Given the description of an element on the screen output the (x, y) to click on. 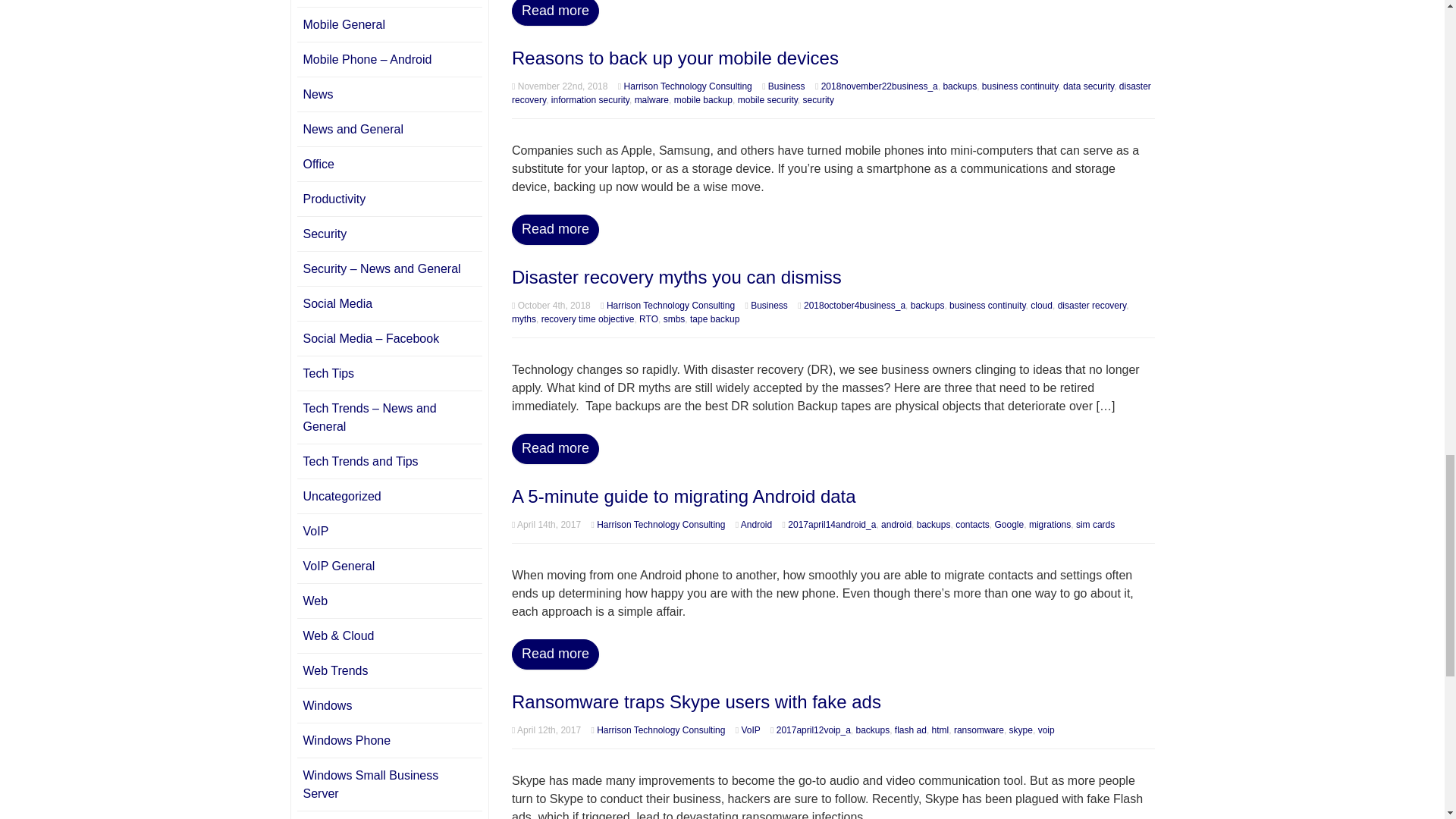
Reasons to back up your mobile devices (675, 57)
Posts by Harrison Technology Consulting (688, 86)
